Given the description of an element on the screen output the (x, y) to click on. 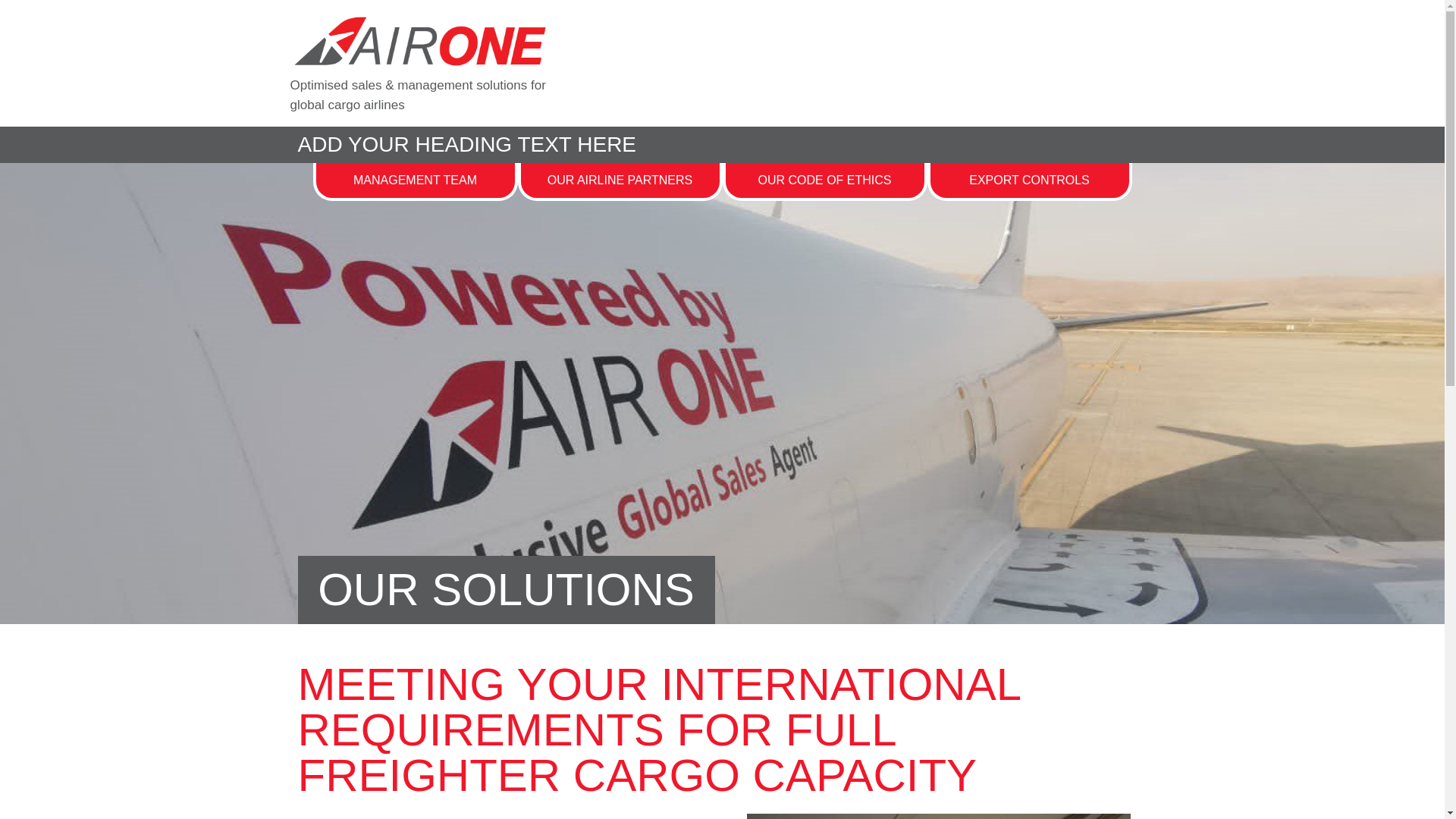
MANAGEMENT TEAM (415, 179)
OUR CODE OF ETHICS (824, 179)
EXPORT CONTROLS (1029, 179)
OUR AIRLINE PARTNERS (620, 179)
